Given the description of an element on the screen output the (x, y) to click on. 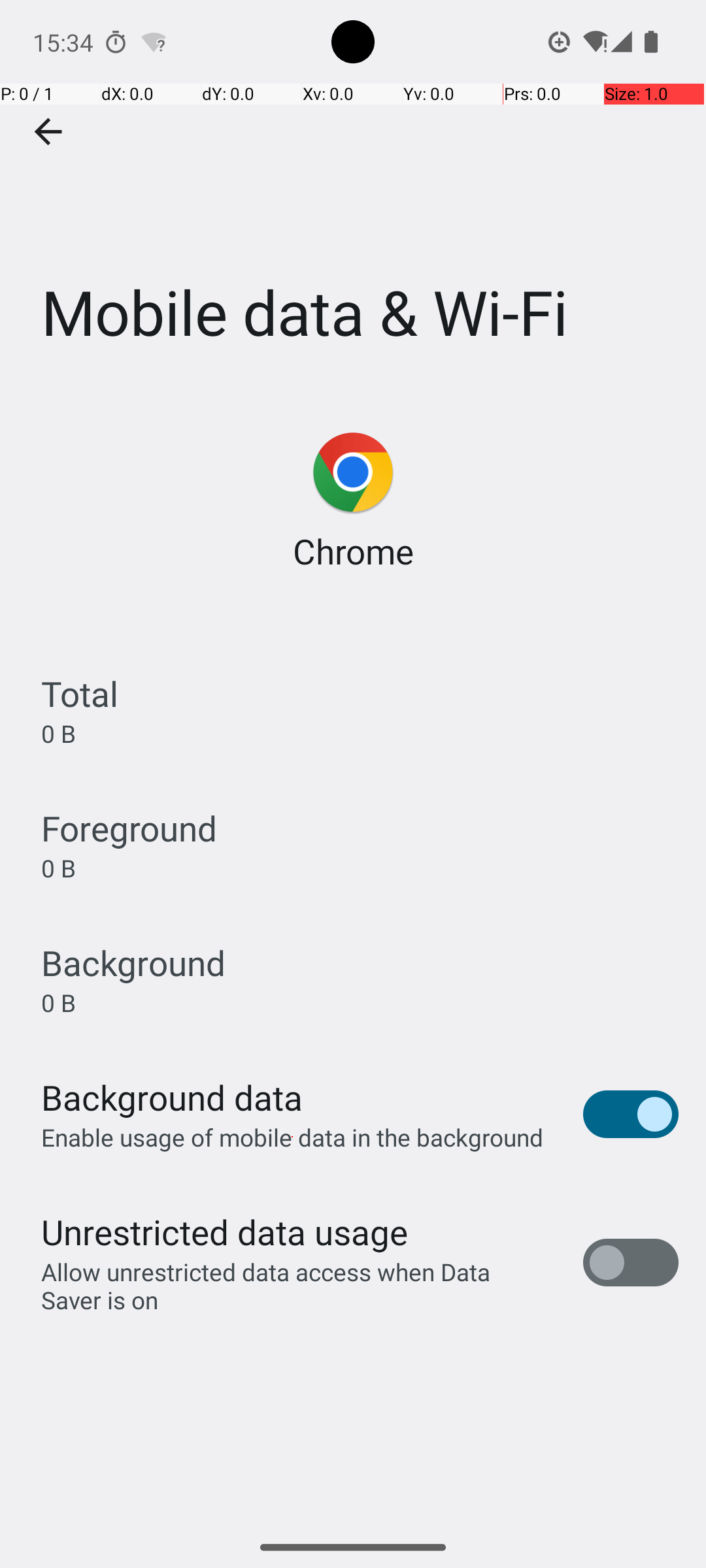
Background data Element type: android.widget.TextView (171, 1097)
Enable usage of mobile data in the background Element type: android.widget.TextView (292, 1136)
Unrestricted data usage Element type: android.widget.TextView (224, 1231)
Allow unrestricted data access when Data Saver is on Element type: android.widget.TextView (298, 1285)
